Given the description of an element on the screen output the (x, y) to click on. 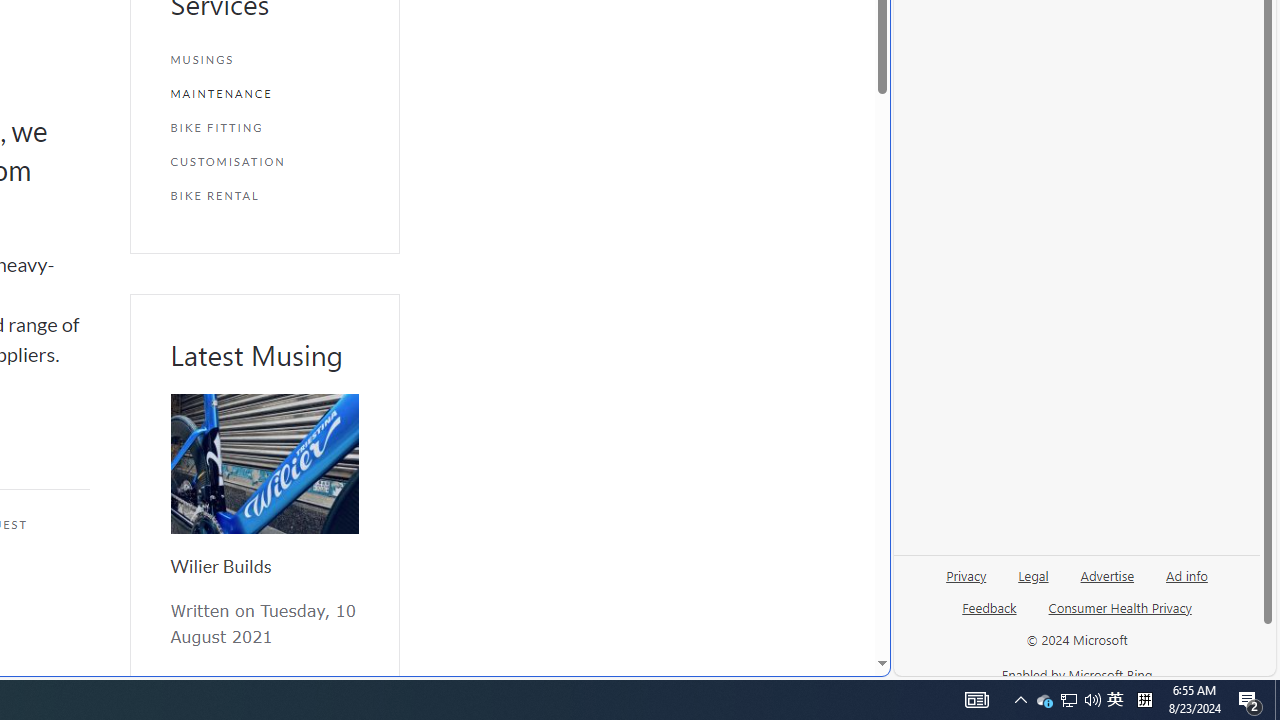
Consumer Health Privacy (1119, 615)
Advertise (1107, 574)
Privacy (965, 574)
Advertise (1106, 583)
BIKE RENTAL (264, 195)
CUSTOMISATION (264, 161)
Wilier Builds (264, 463)
MUSINGS (264, 60)
Wilier Builds (220, 566)
Legal (1033, 583)
Class: wk-position-cover (264, 463)
Ad info (1187, 574)
Legal (1033, 574)
Feedback (988, 615)
MUSINGS (264, 60)
